Given the description of an element on the screen output the (x, y) to click on. 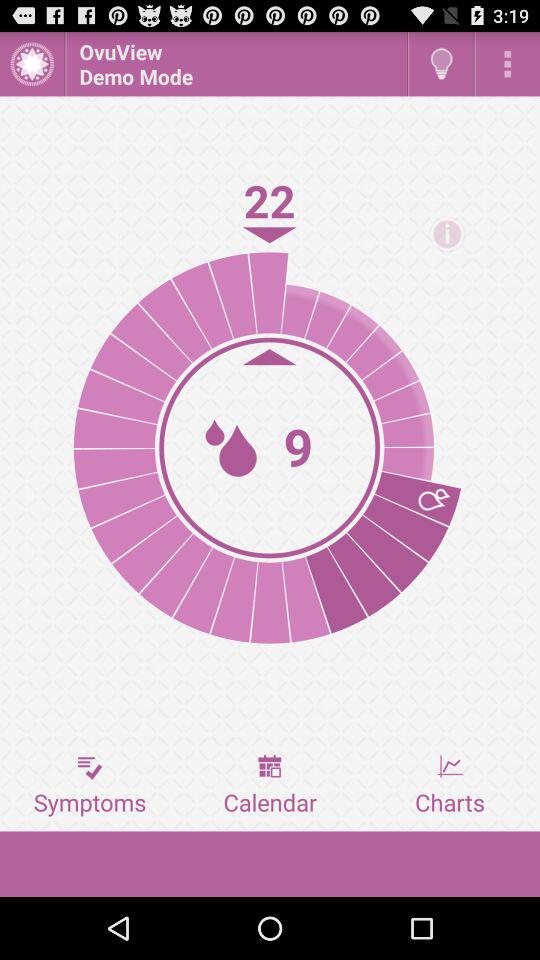
turn on icon to the left of the calendar button (90, 785)
